Given the description of an element on the screen output the (x, y) to click on. 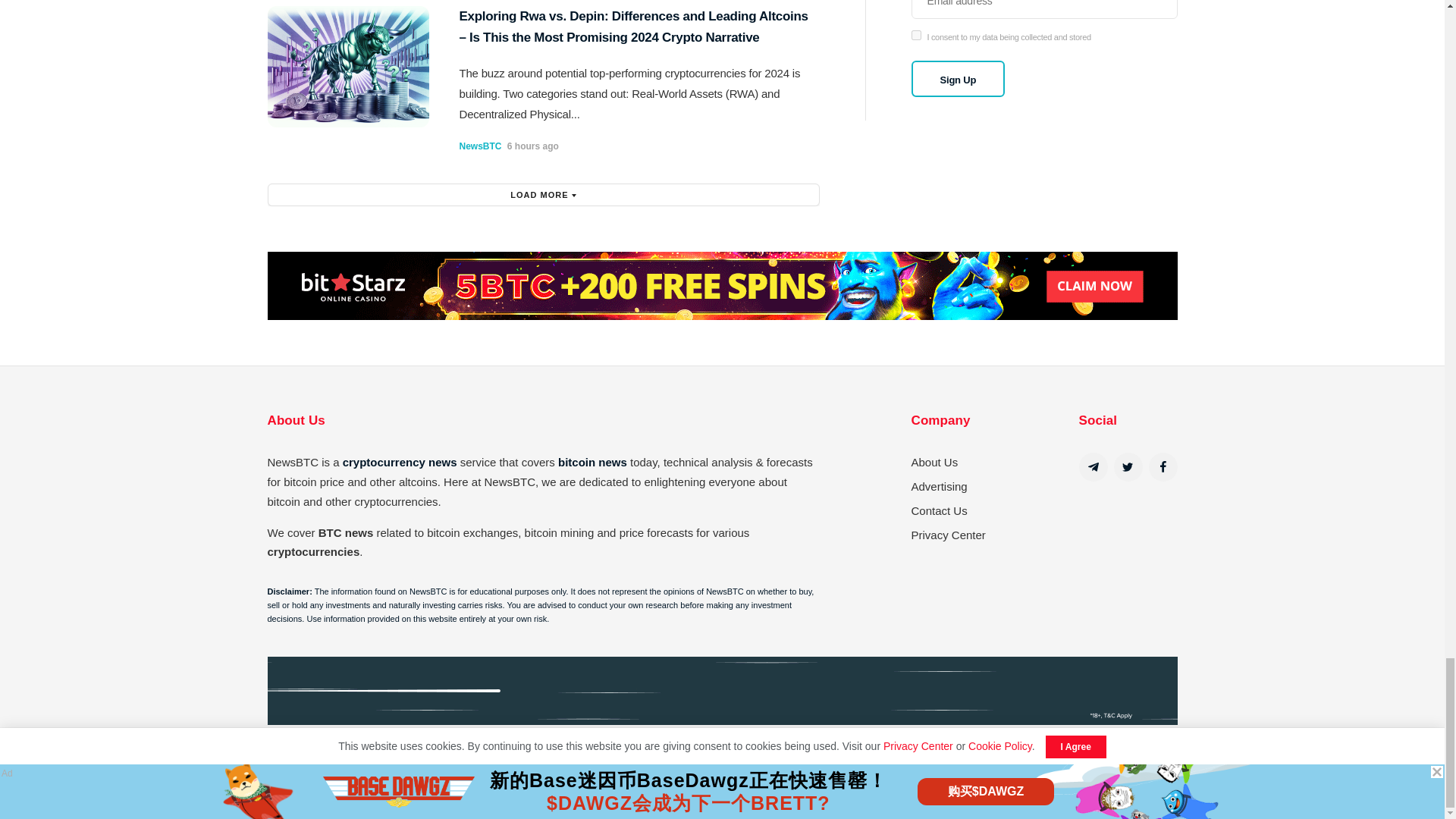
I consent to my data being collected and stored (916, 35)
Sign Up (958, 78)
